Given the description of an element on the screen output the (x, y) to click on. 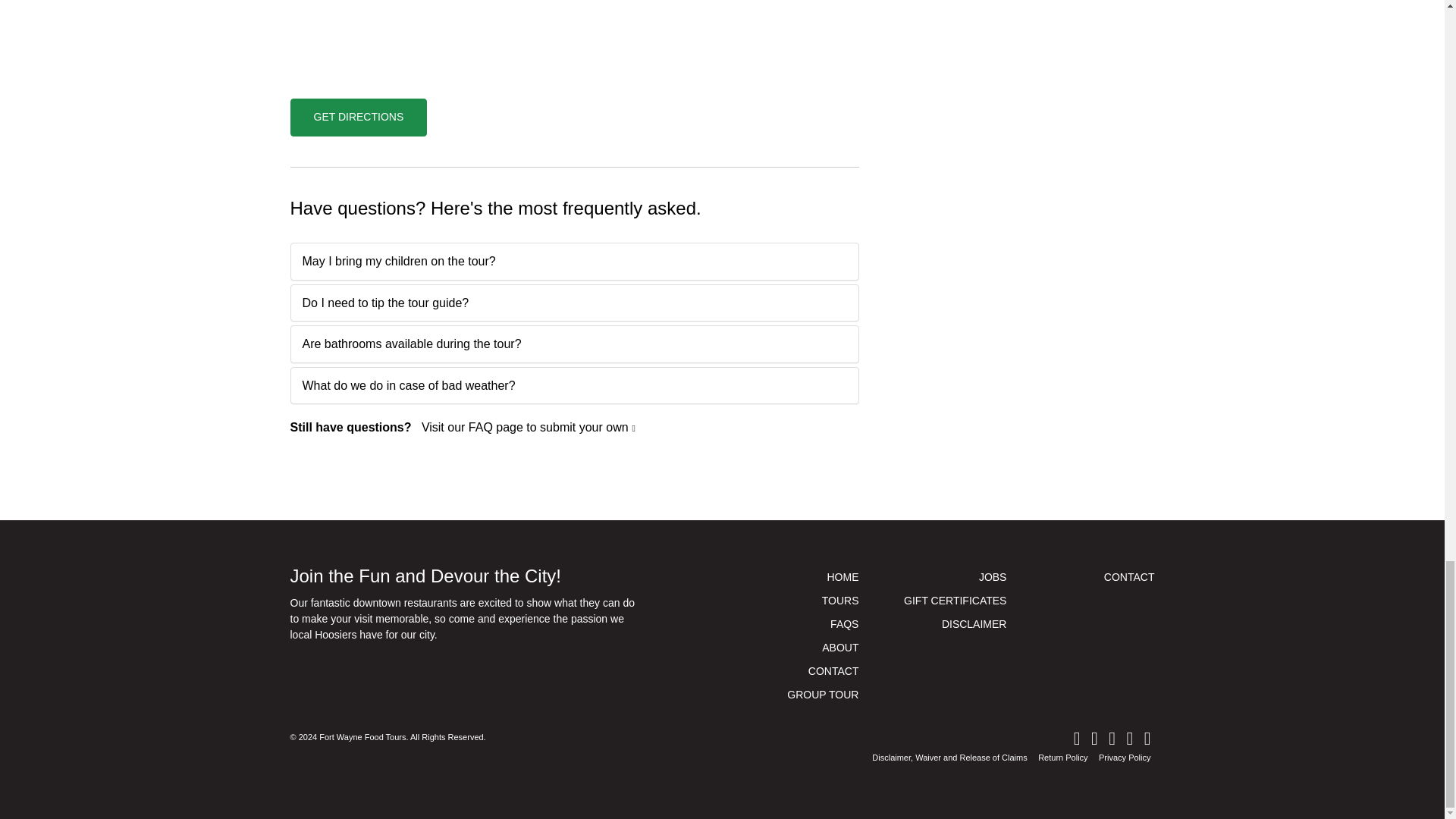
May I bring my children on the tour? (575, 261)
GET DIRECTIONS (357, 117)
TOURS (796, 600)
What do we do in case of bad weather? (575, 385)
HOME (796, 576)
CONTACT (796, 671)
ABOUT (796, 648)
Do I need to tip the tour guide? (575, 303)
Visit our FAQ page to submit your own (528, 427)
Are bathrooms available during the tour? (575, 343)
